Given the description of an element on the screen output the (x, y) to click on. 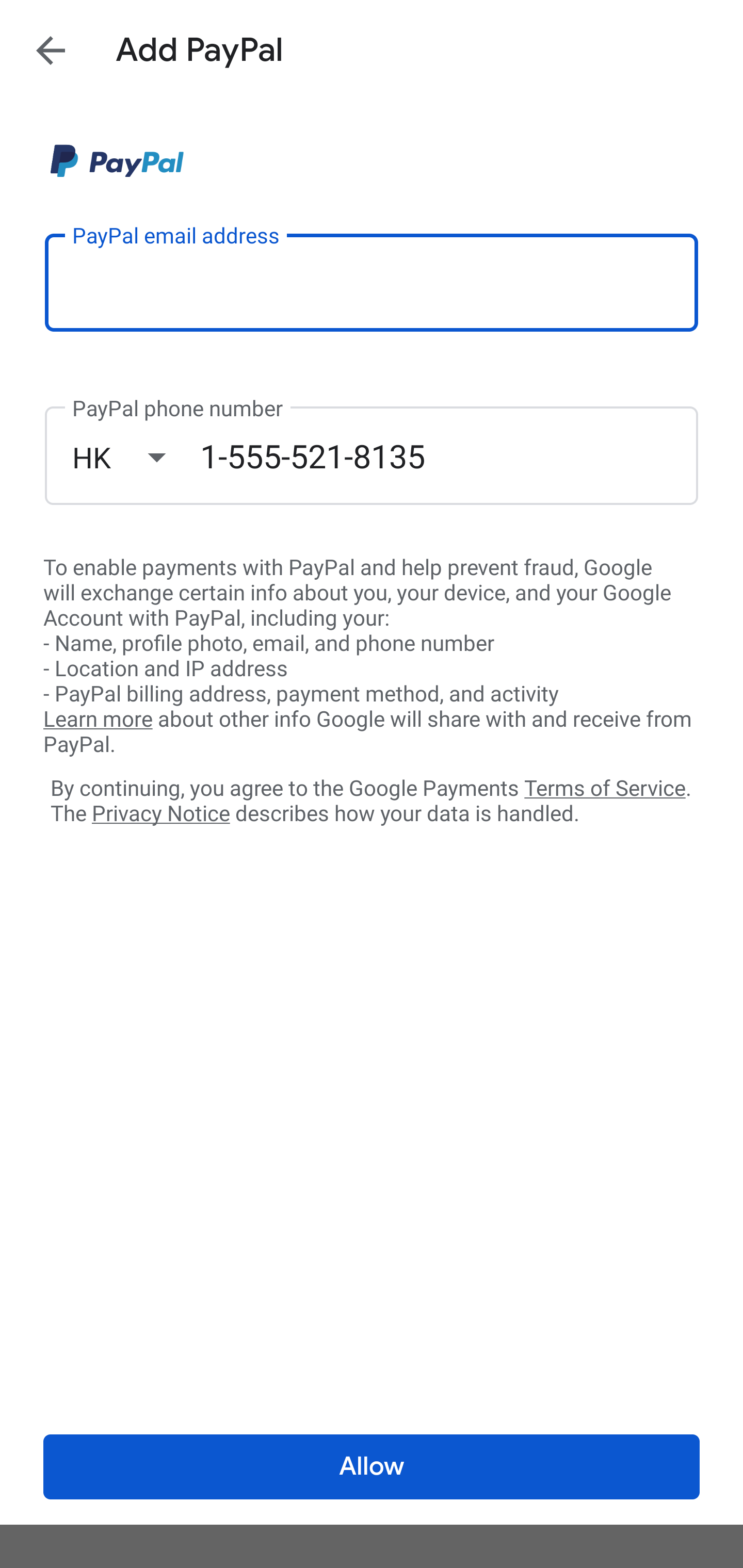
Navigate up (50, 50)
PayPal email address (371, 282)
HK (135, 456)
Learn more (97, 719)
Terms of Service (604, 787)
Privacy Notice (160, 814)
Allow (371, 1466)
